Given the description of an element on the screen output the (x, y) to click on. 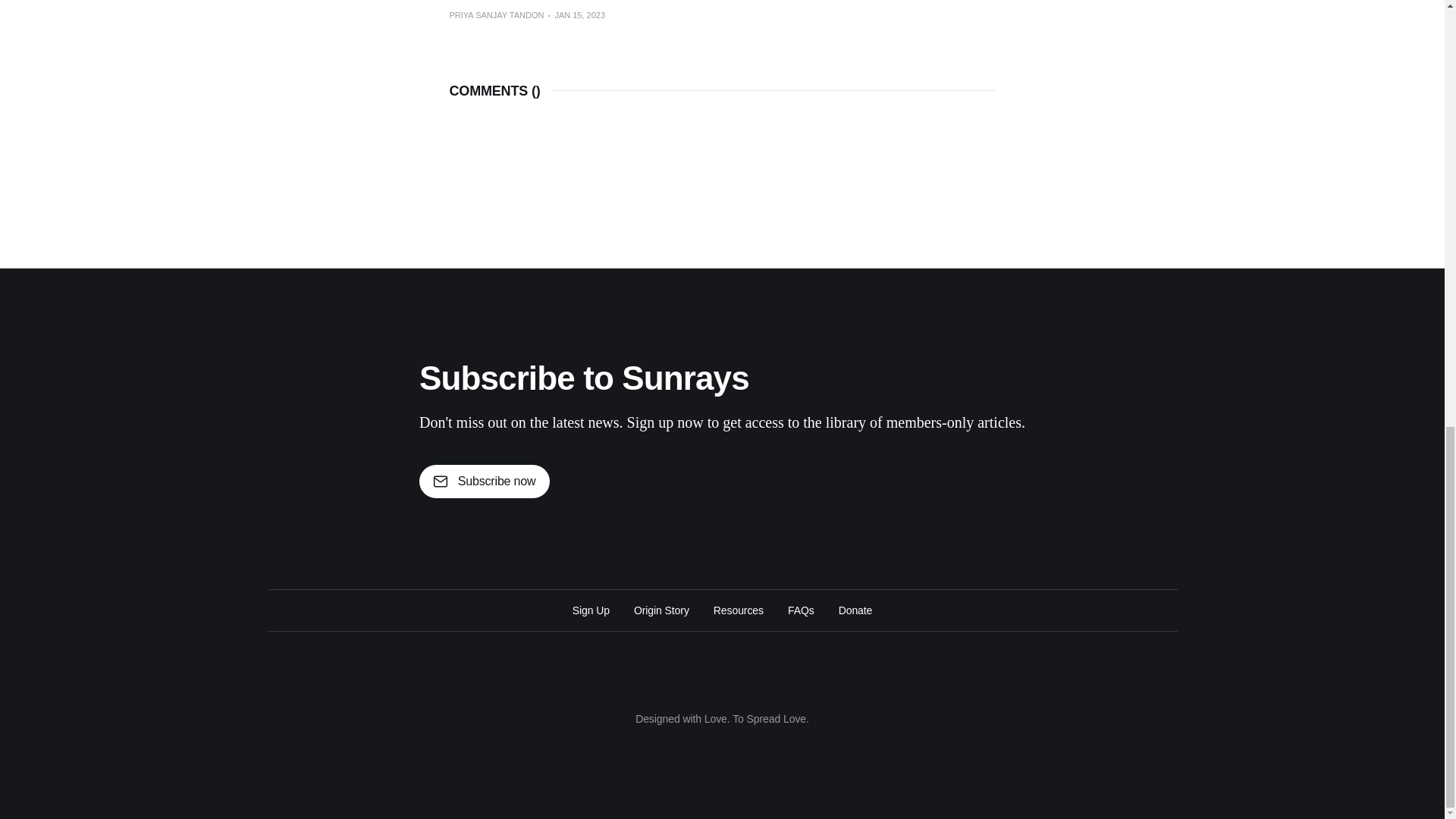
Subscribe now (484, 481)
Origin Story (660, 610)
Sign Up (591, 610)
FAQs (800, 610)
Donate (855, 610)
Resources (737, 610)
